Given the description of an element on the screen output the (x, y) to click on. 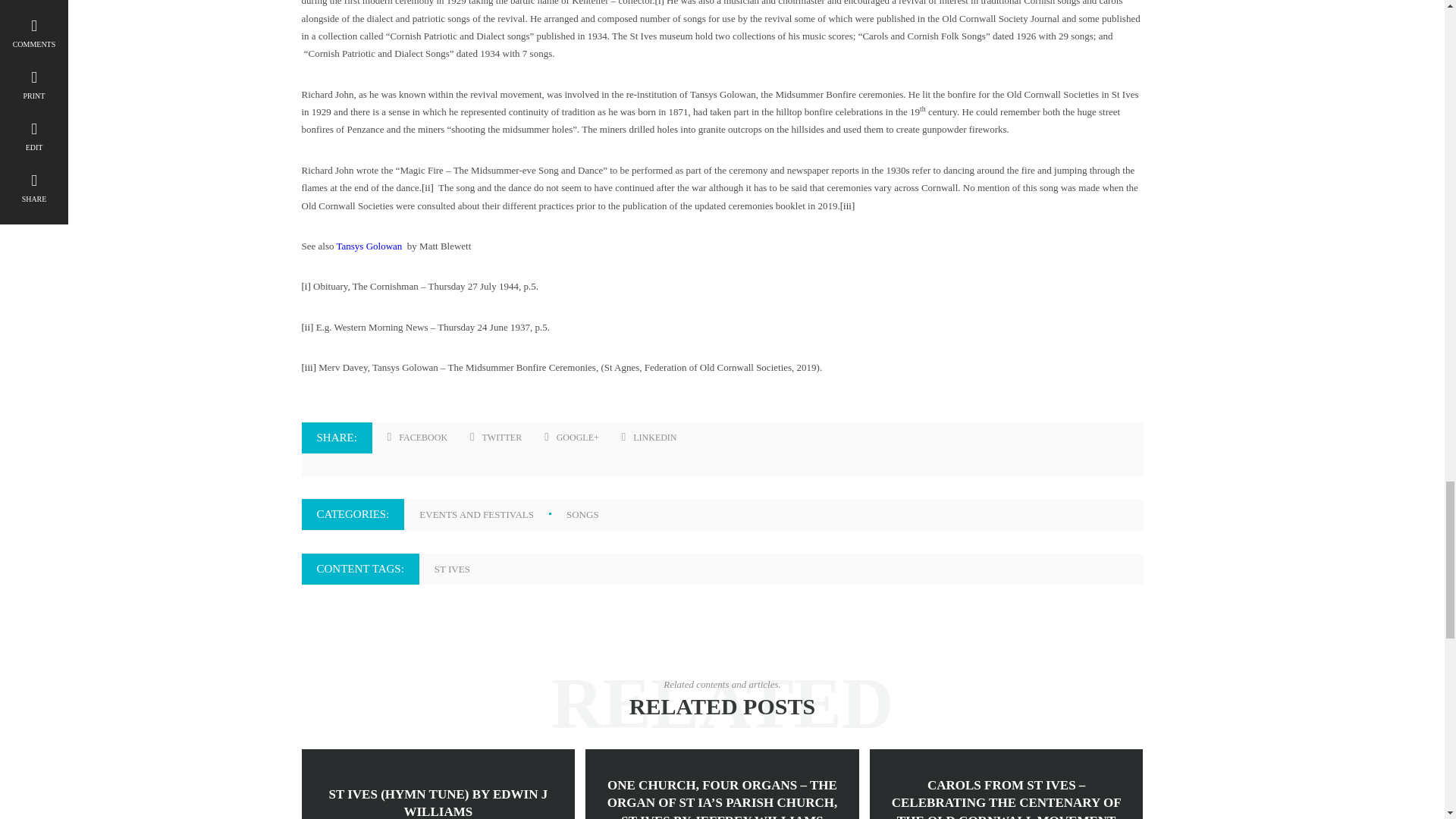
Share toTwitter (495, 437)
Share toFacebook (416, 437)
